Given the description of an element on the screen output the (x, y) to click on. 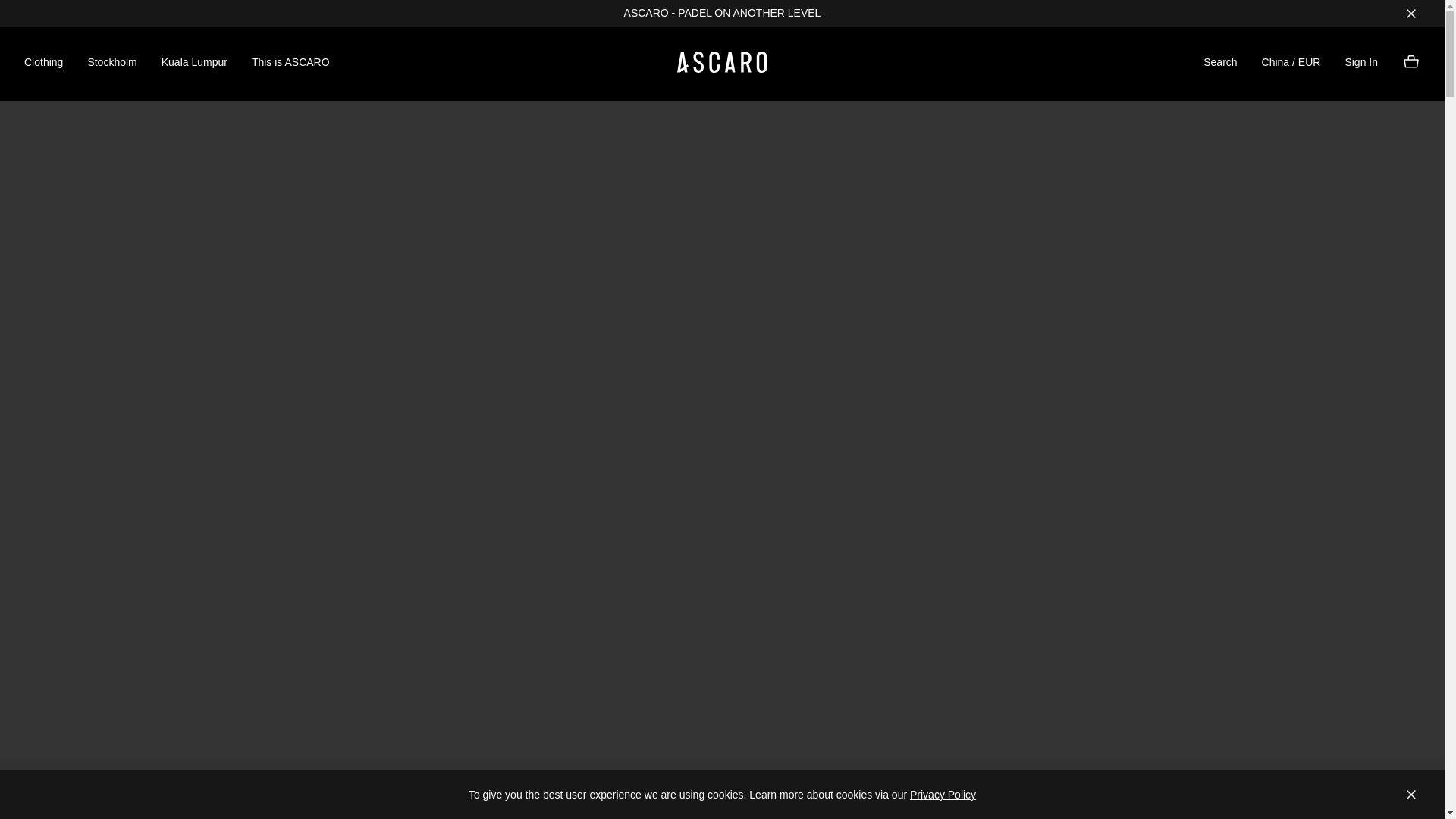
Stockholm (111, 63)
This is ASCARO (290, 63)
Kuala Lumpur (194, 63)
Privacy Policy (942, 794)
